Given the description of an element on the screen output the (x, y) to click on. 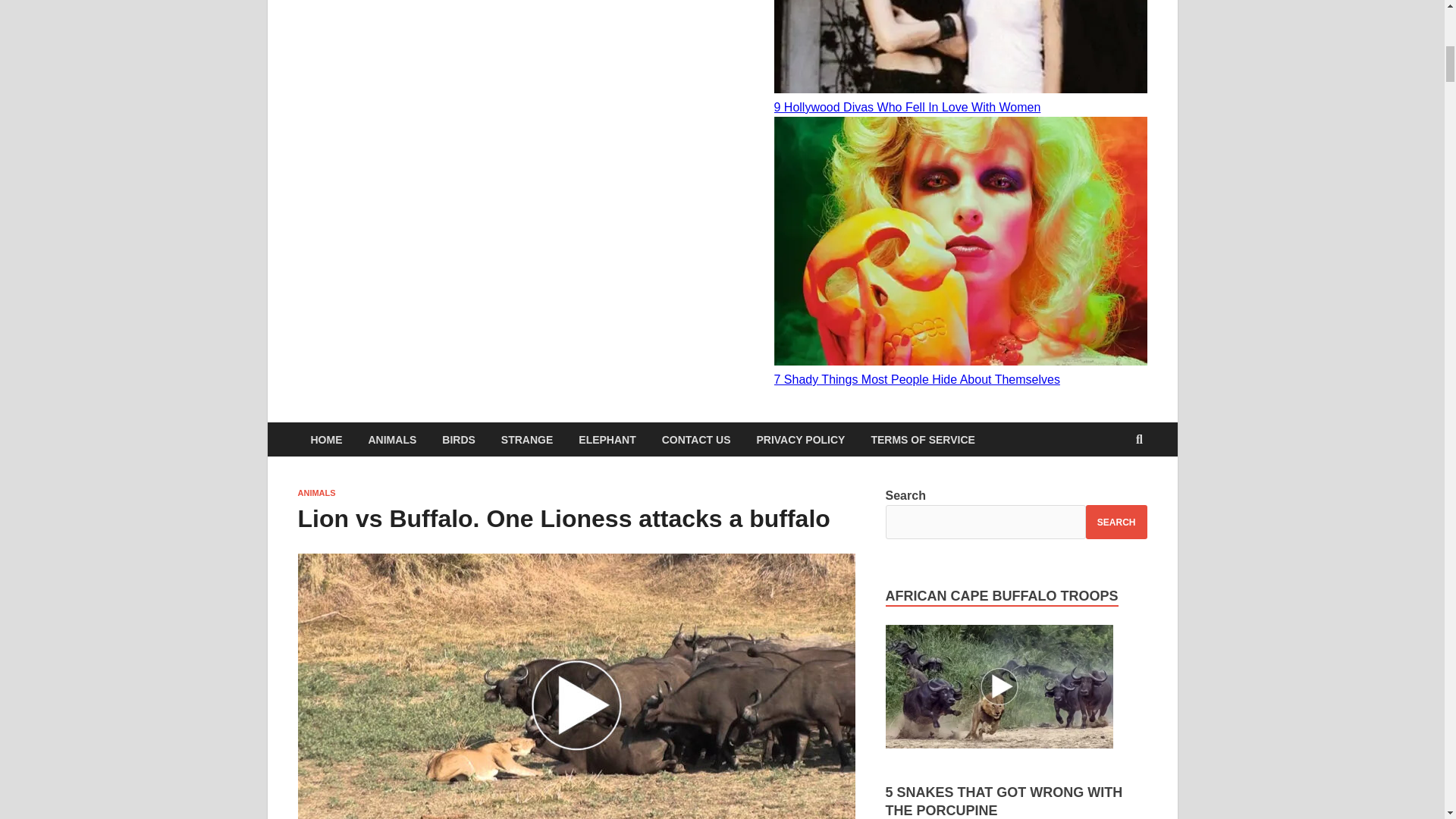
STRANGE (526, 439)
HOME (326, 439)
TERMS OF SERVICE (922, 439)
BIRDS (458, 439)
CONTACT US (696, 439)
ANIMALS (315, 492)
ELEPHANT (606, 439)
PRIVACY POLICY (799, 439)
ANIMALS (392, 439)
